Given the description of an element on the screen output the (x, y) to click on. 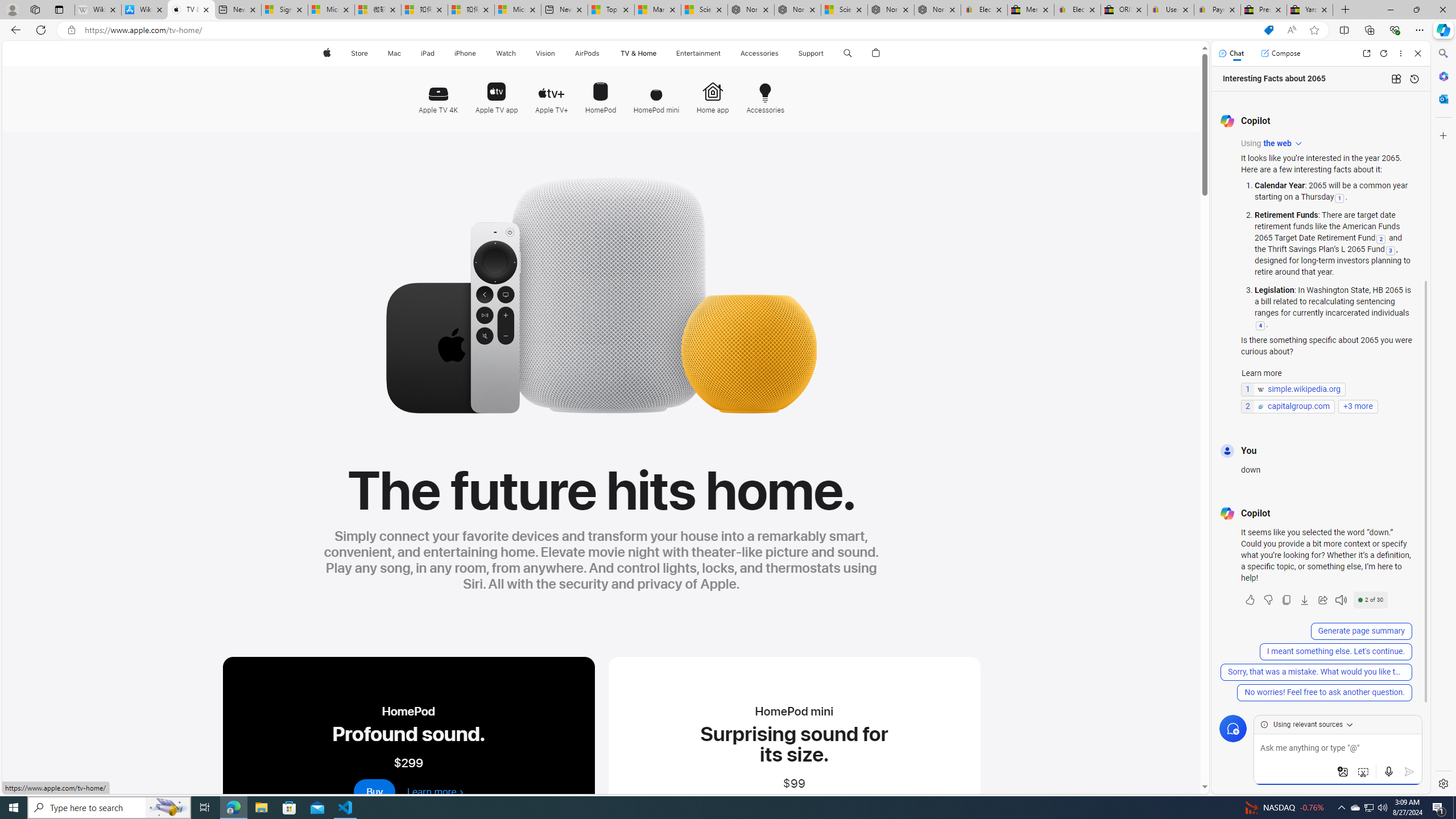
Search apple.com (847, 53)
Marine life - MSN (656, 9)
iPad (427, 53)
AirPods (587, 53)
Class: globalnav-item globalnav-search shift-0-1 (847, 53)
HomePod (600, 92)
Nordace - FAQ (937, 9)
Apple (325, 53)
Chat (1231, 52)
iPhone (464, 53)
HomePod mini (656, 92)
Watch menu (518, 53)
Shopping in Microsoft Edge (1268, 29)
